Given the description of an element on the screen output the (x, y) to click on. 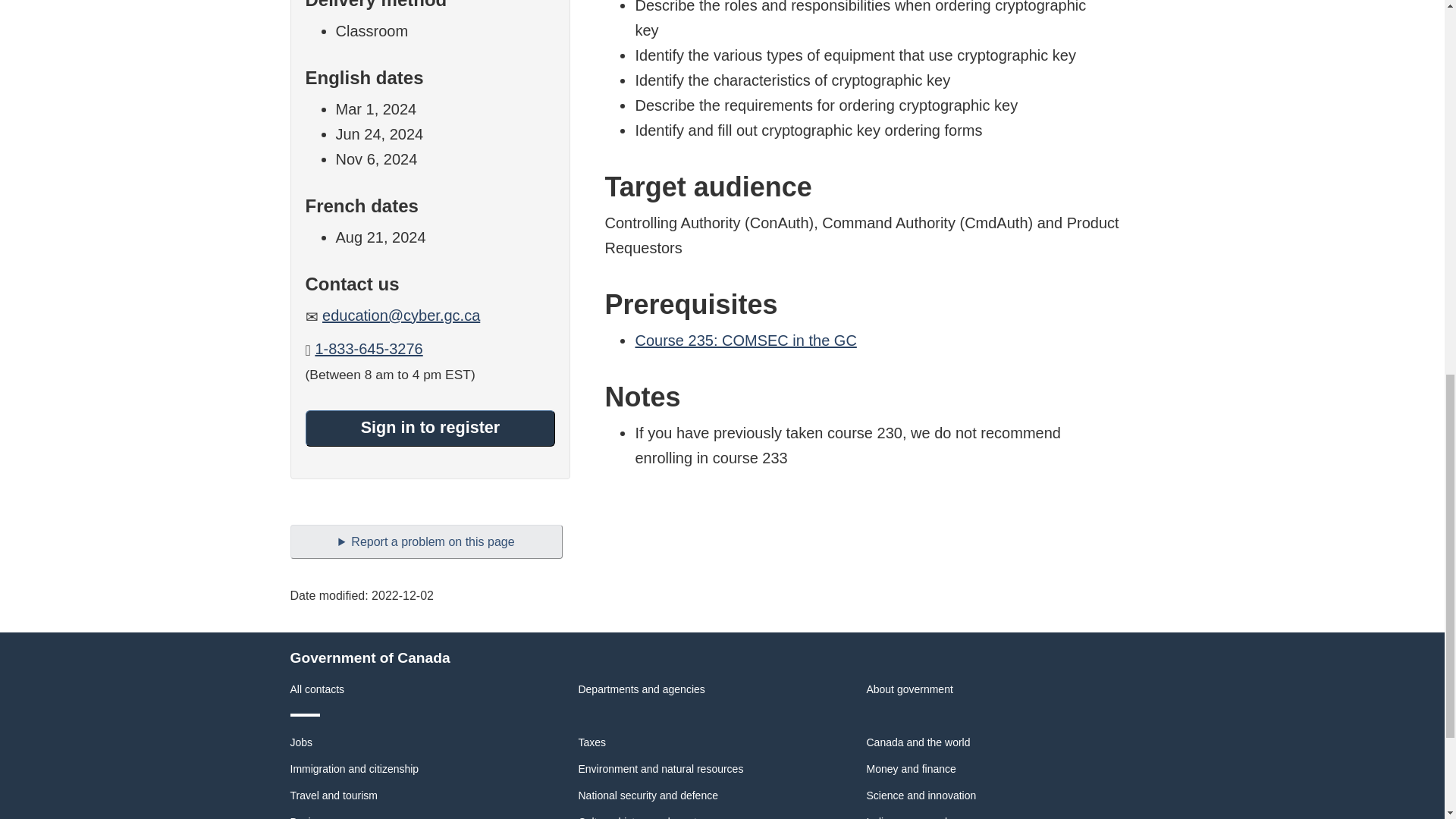
About government (909, 689)
All contacts (316, 689)
Immigration and citizenship (354, 768)
Sign in to register (429, 428)
1-833-645-3276 (368, 348)
Course 235: COMSEC in the GC (745, 340)
Jobs (301, 742)
Departments and agencies (641, 689)
